Given the description of an element on the screen output the (x, y) to click on. 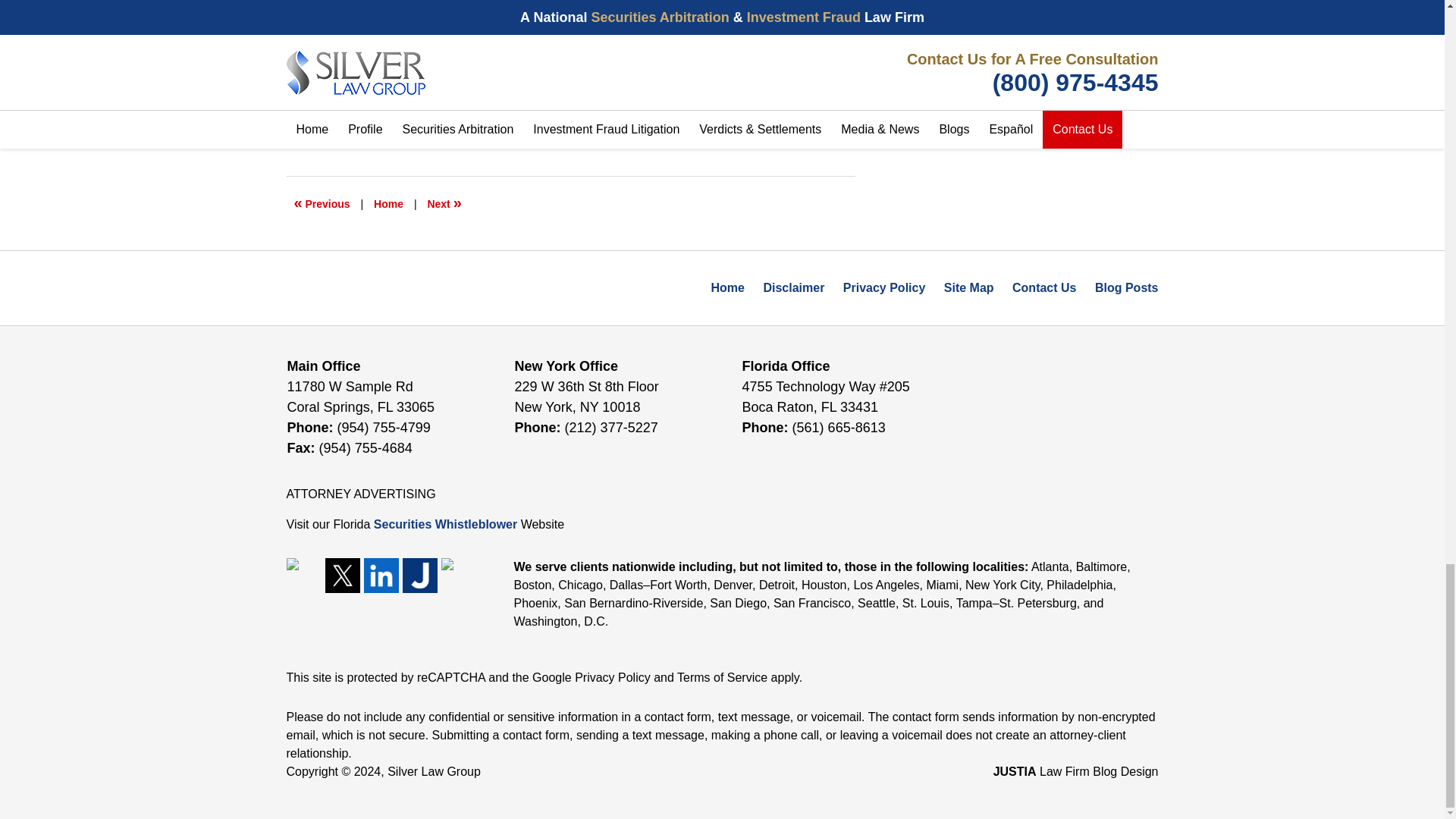
View all posts in Stockbroker Misconduct (523, 117)
David Khezri Permanently Barred By FINRA (443, 203)
Twitter (341, 574)
Justia (418, 574)
View all posts in Failure to Supervise (387, 117)
Feed (458, 574)
Facebook (303, 574)
LinkedIn (381, 574)
